Given the description of an element on the screen output the (x, y) to click on. 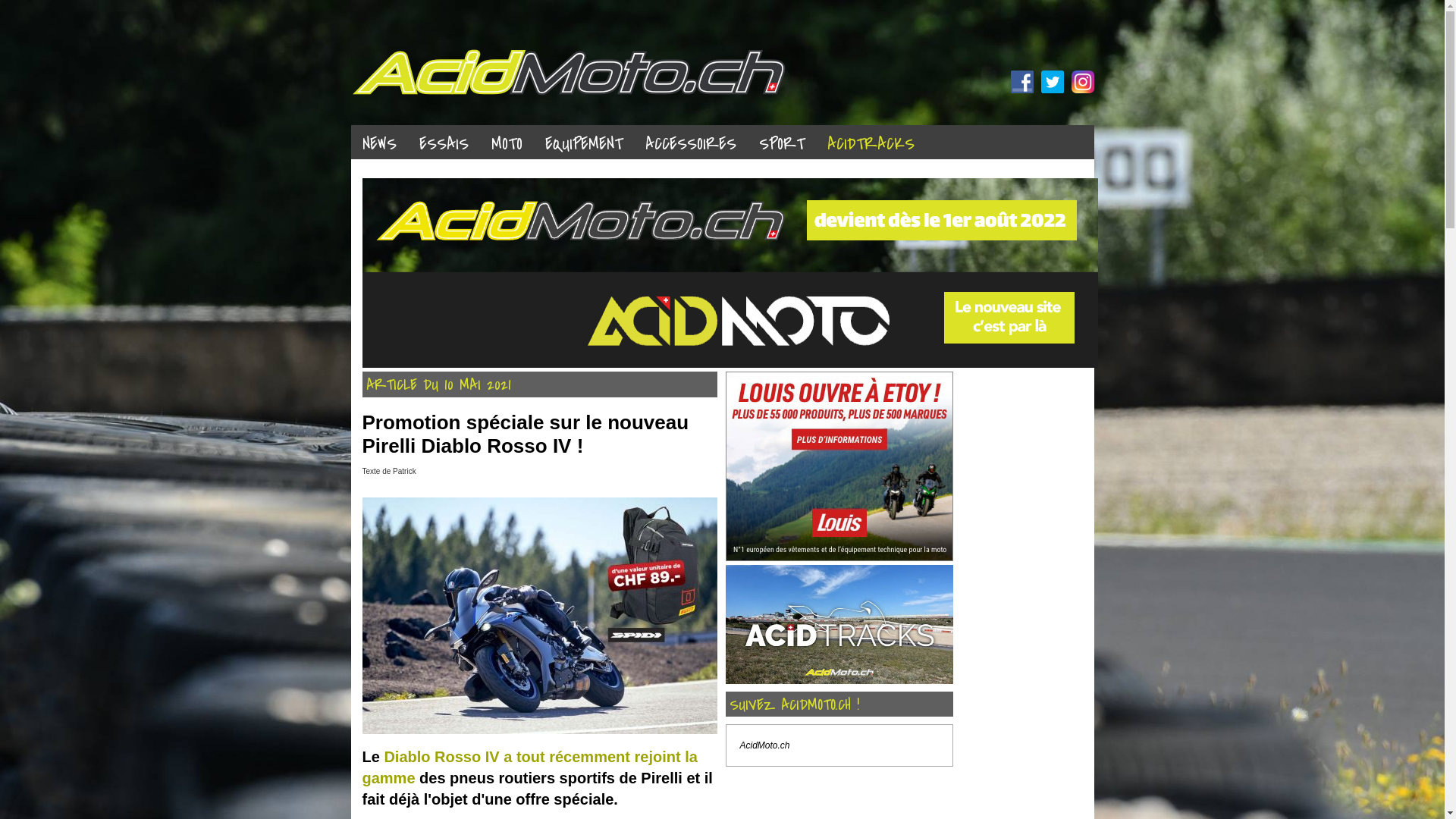
ESSAIS Element type: text (443, 142)
Twitter Element type: hover (1051, 81)
MOTO Element type: text (506, 142)
SPORT Element type: text (781, 142)
ACIDTRACKS Element type: text (870, 142)
Instagram Element type: hover (1081, 81)
Facebook Element type: hover (1021, 81)
NEWS Element type: text (378, 142)
ACCESSOIRES Element type: text (690, 142)
AcidMoto.ch Element type: text (765, 745)
EQUIPEMENT Element type: text (583, 142)
